Given the description of an element on the screen output the (x, y) to click on. 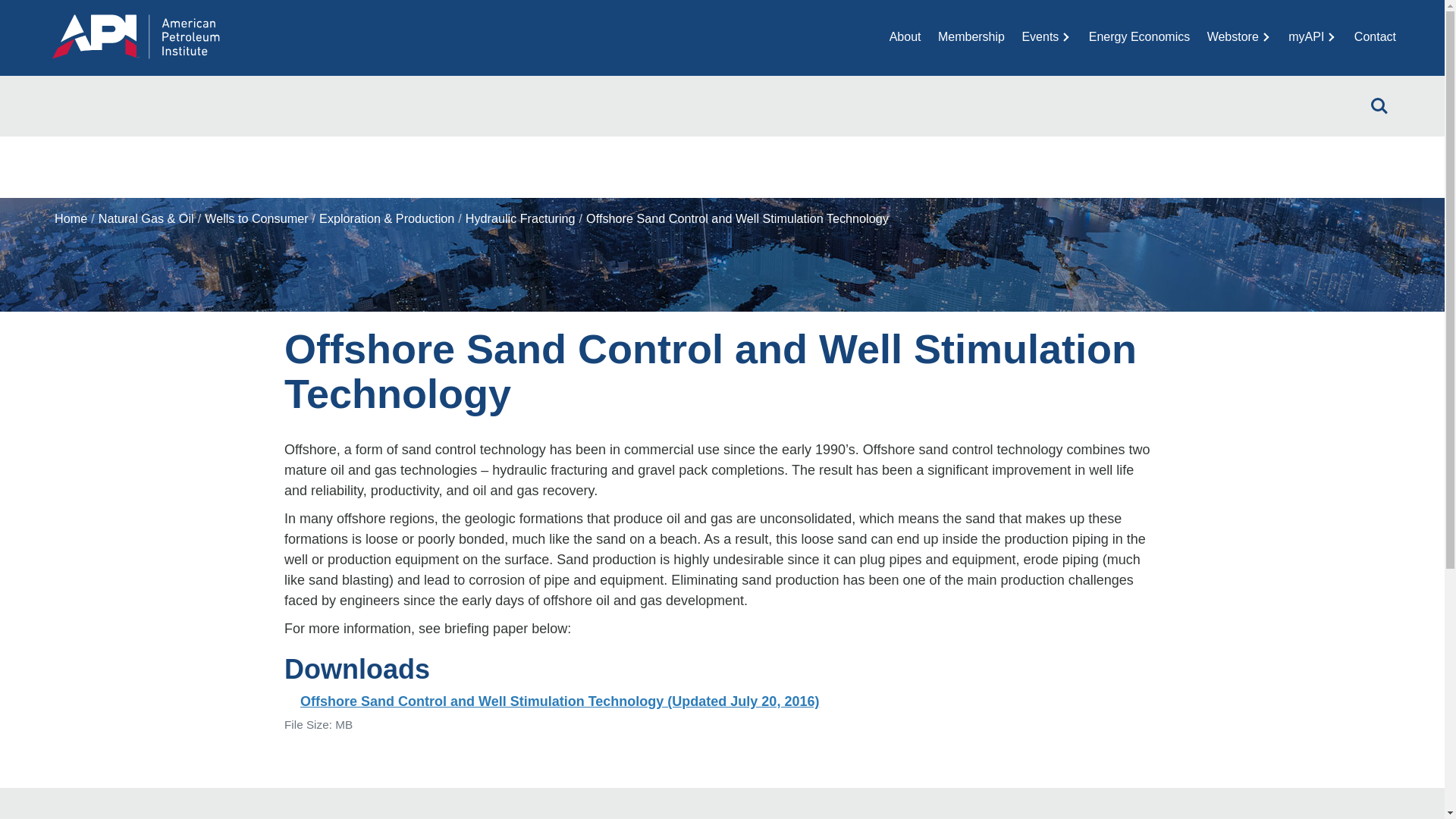
Contact (1375, 36)
Events (1046, 36)
Membership (970, 36)
About (905, 36)
Energy Economics (1139, 36)
myAPI (1312, 36)
Search (1379, 105)
Webstore (1239, 36)
